Given the description of an element on the screen output the (x, y) to click on. 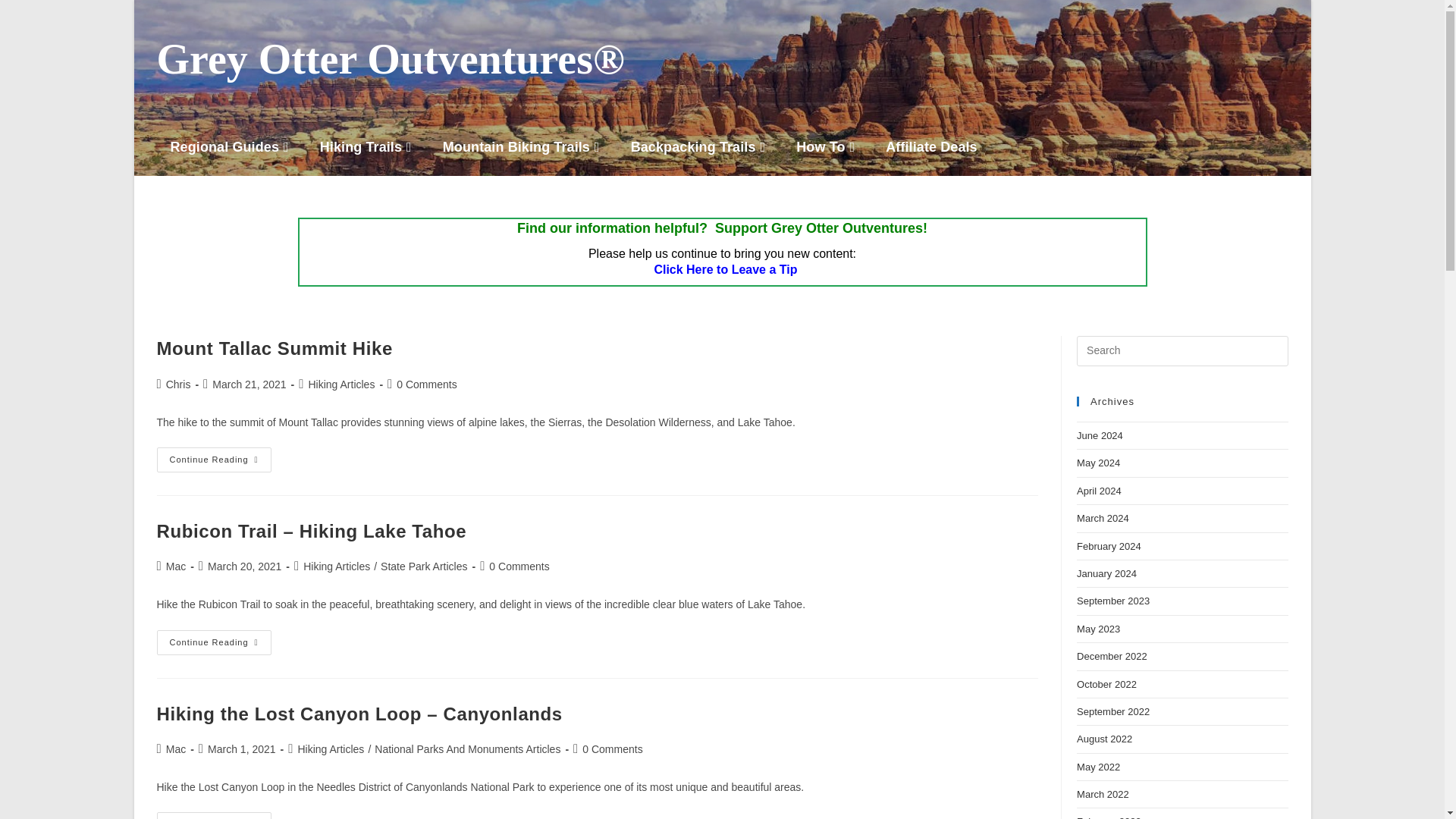
Hiking Trails (367, 147)
Posts by Mac (175, 748)
Posts by Mac (175, 566)
Regional Guides (230, 147)
Posts by Chris (177, 384)
Mountain Biking Trails (523, 147)
